Given the description of an element on the screen output the (x, y) to click on. 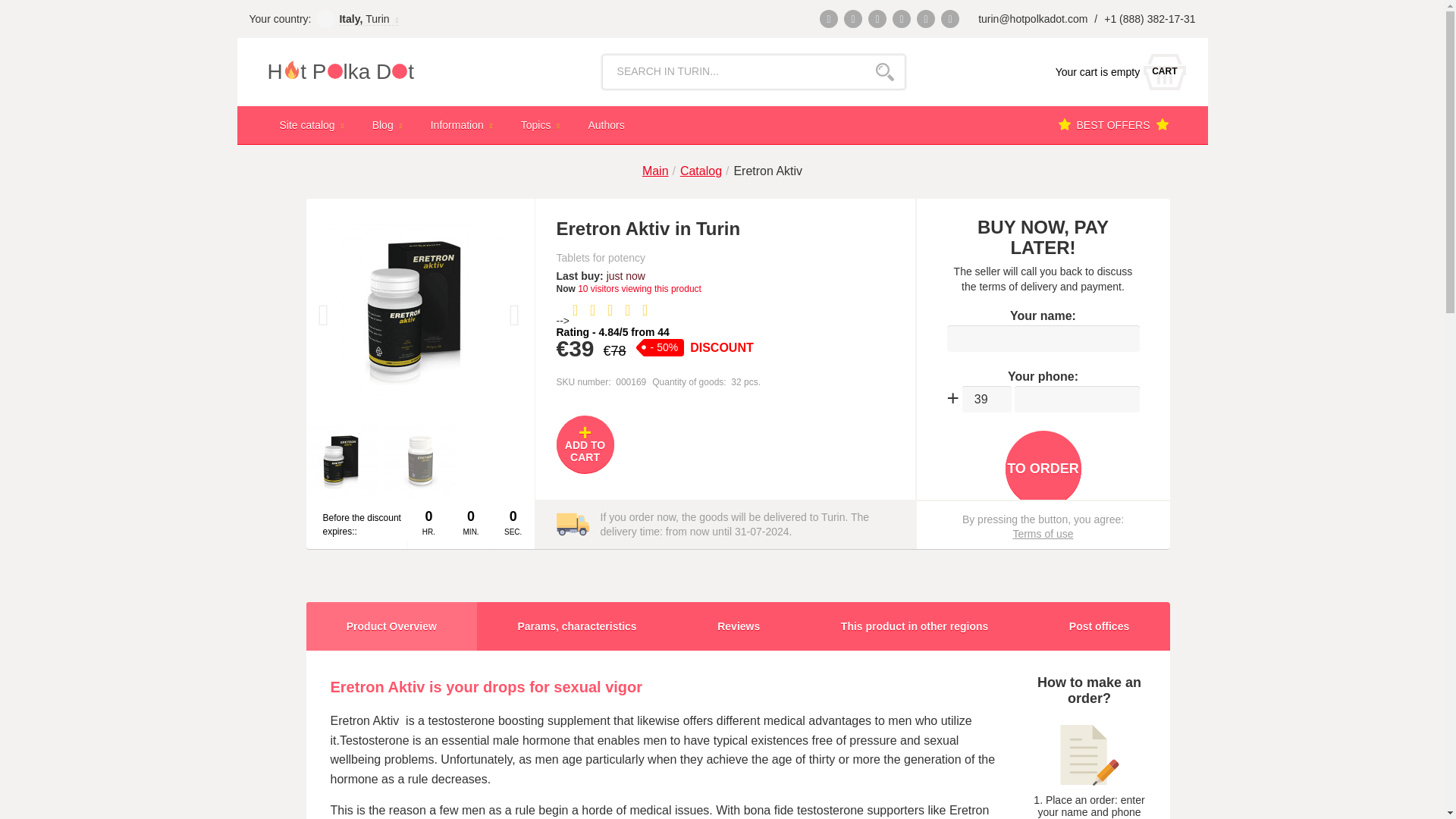
H t Plka Dt (372, 71)
39 (986, 399)
Italy, Turin (368, 18)
To order (1043, 468)
Blog (389, 124)
Site catalog (1116, 72)
